Given the description of an element on the screen output the (x, y) to click on. 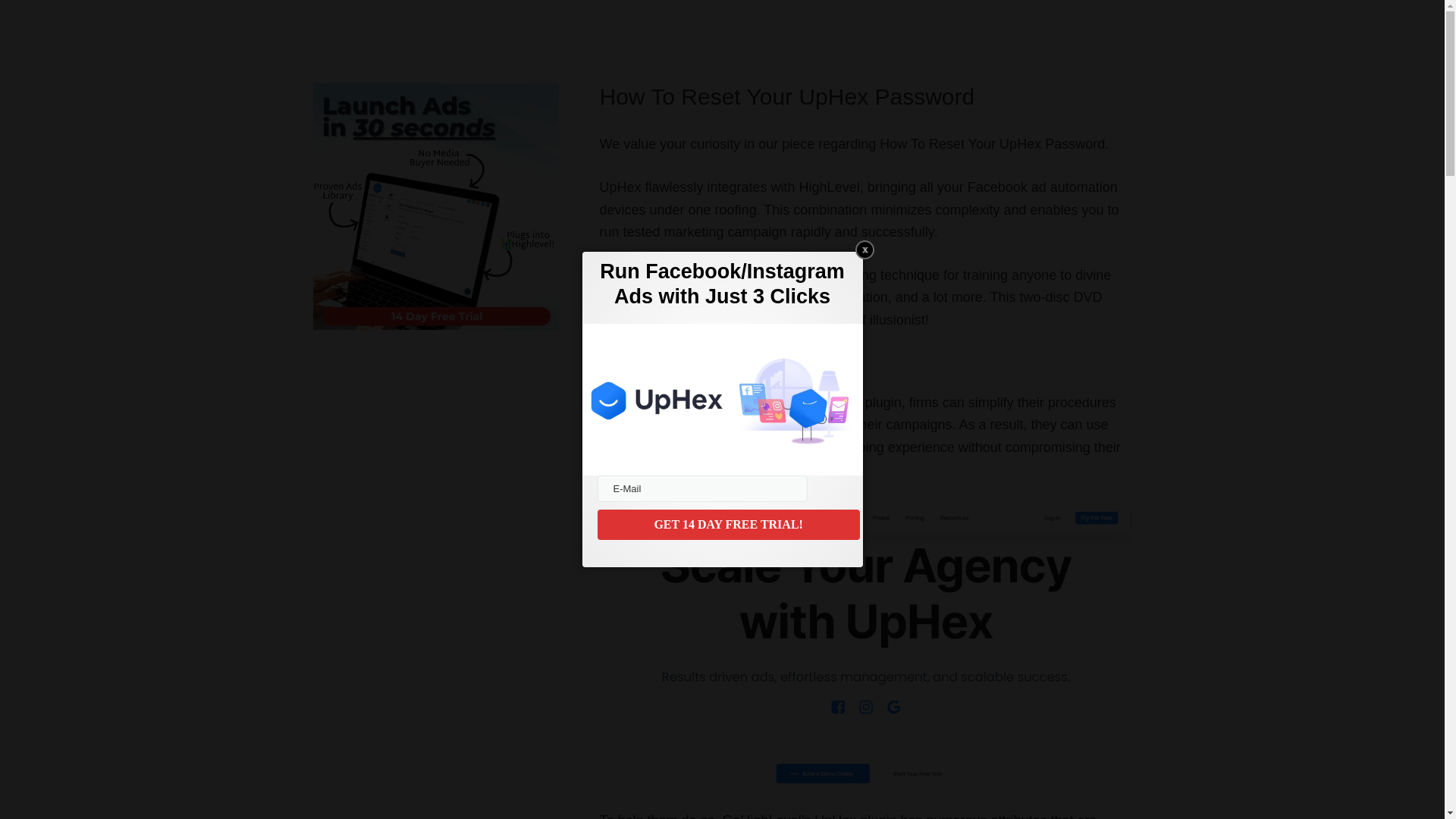
GET 14 DAY FREE TRIAL! (728, 524)
GET 14 DAY FREE TRIAL! (728, 524)
